Given the description of an element on the screen output the (x, y) to click on. 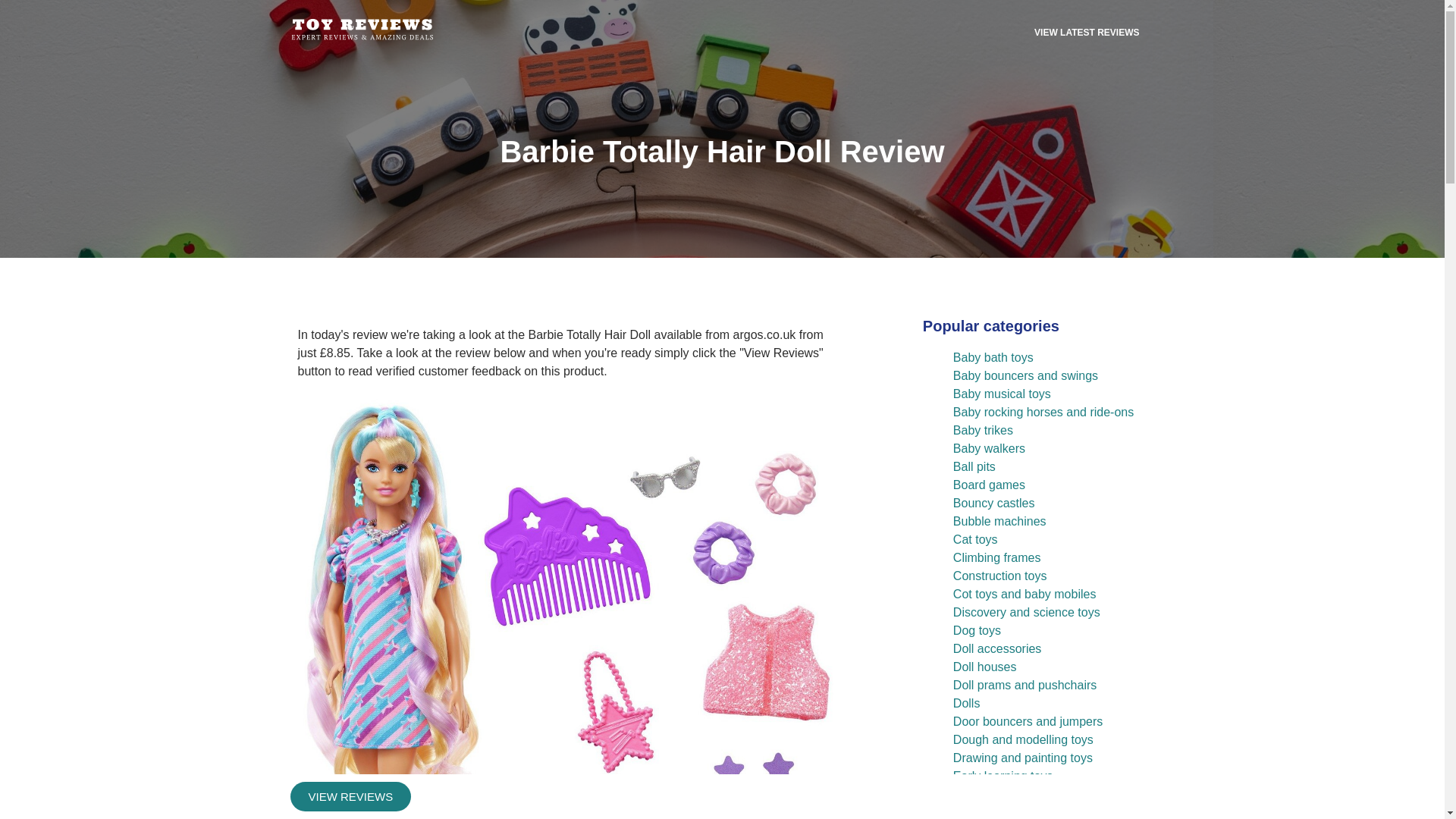
Baby walkers (989, 448)
Baby bath toys (993, 357)
Baby bouncers and swings (1025, 375)
Ball pits (974, 466)
Baby trikes (983, 430)
Baby rocking horses and ride-ons (1043, 411)
Baby musical toys (1002, 393)
VIEW LATEST REVIEWS (1086, 32)
